Given the description of an element on the screen output the (x, y) to click on. 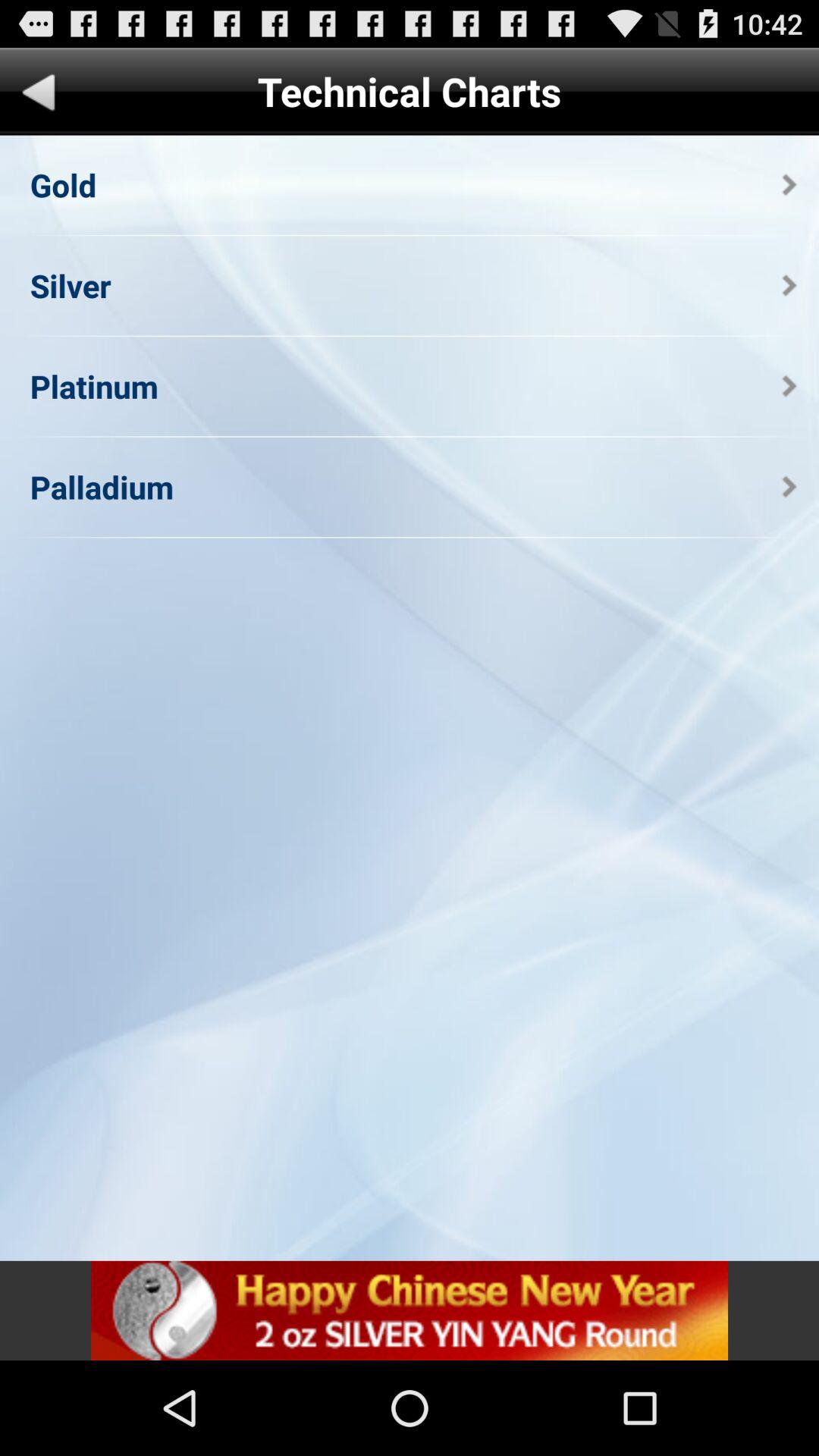
tap item above gold (39, 95)
